Given the description of an element on the screen output the (x, y) to click on. 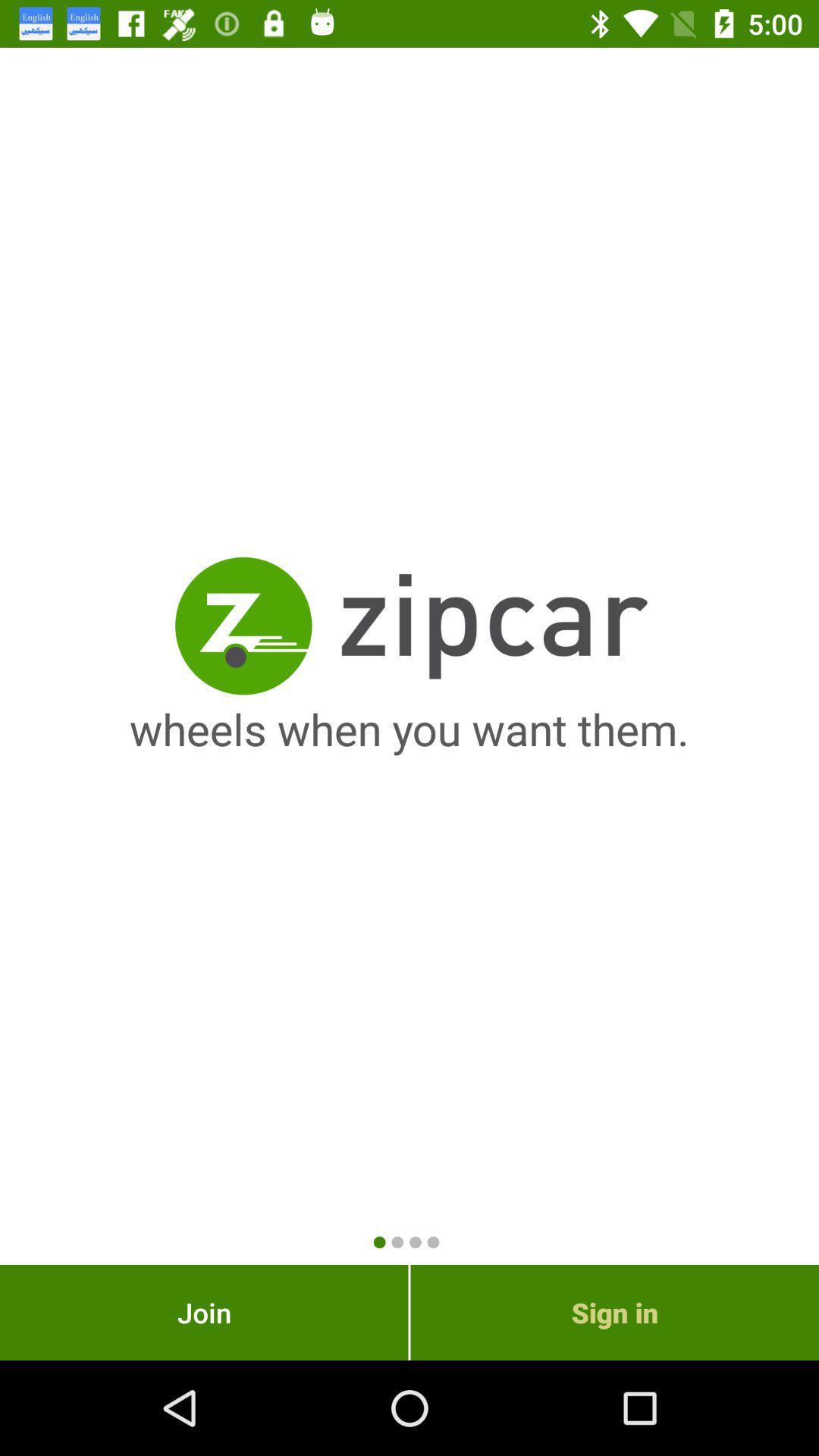
jump until sign in (614, 1312)
